Given the description of an element on the screen output the (x, y) to click on. 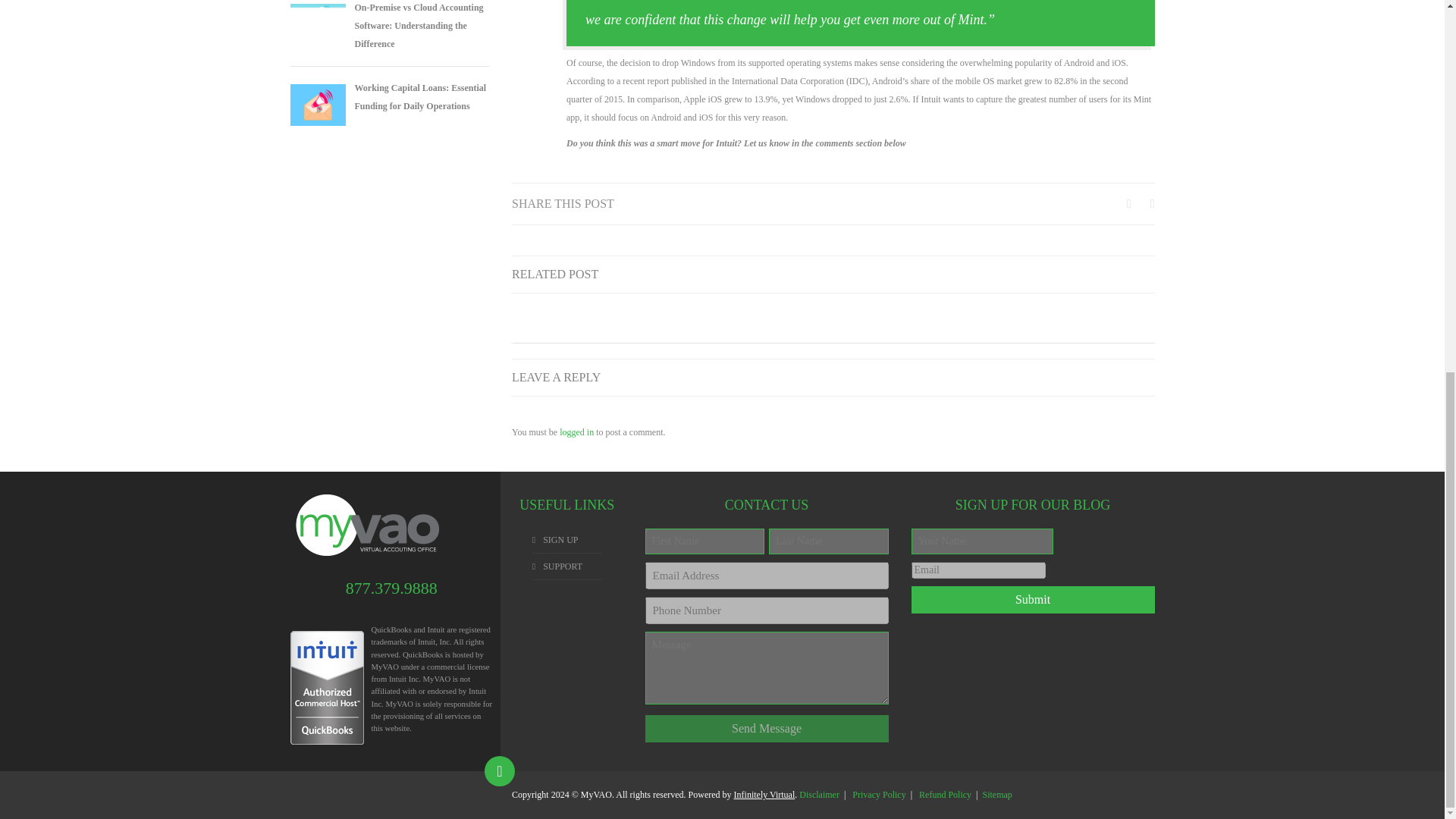
Infinitely Virtual (763, 794)
Submit (1032, 599)
Sitemap (996, 794)
logged in (576, 431)
Disclaimer (819, 794)
Submit (1032, 599)
Privacy Policy (878, 794)
Back to top (499, 770)
